Given the description of an element on the screen output the (x, y) to click on. 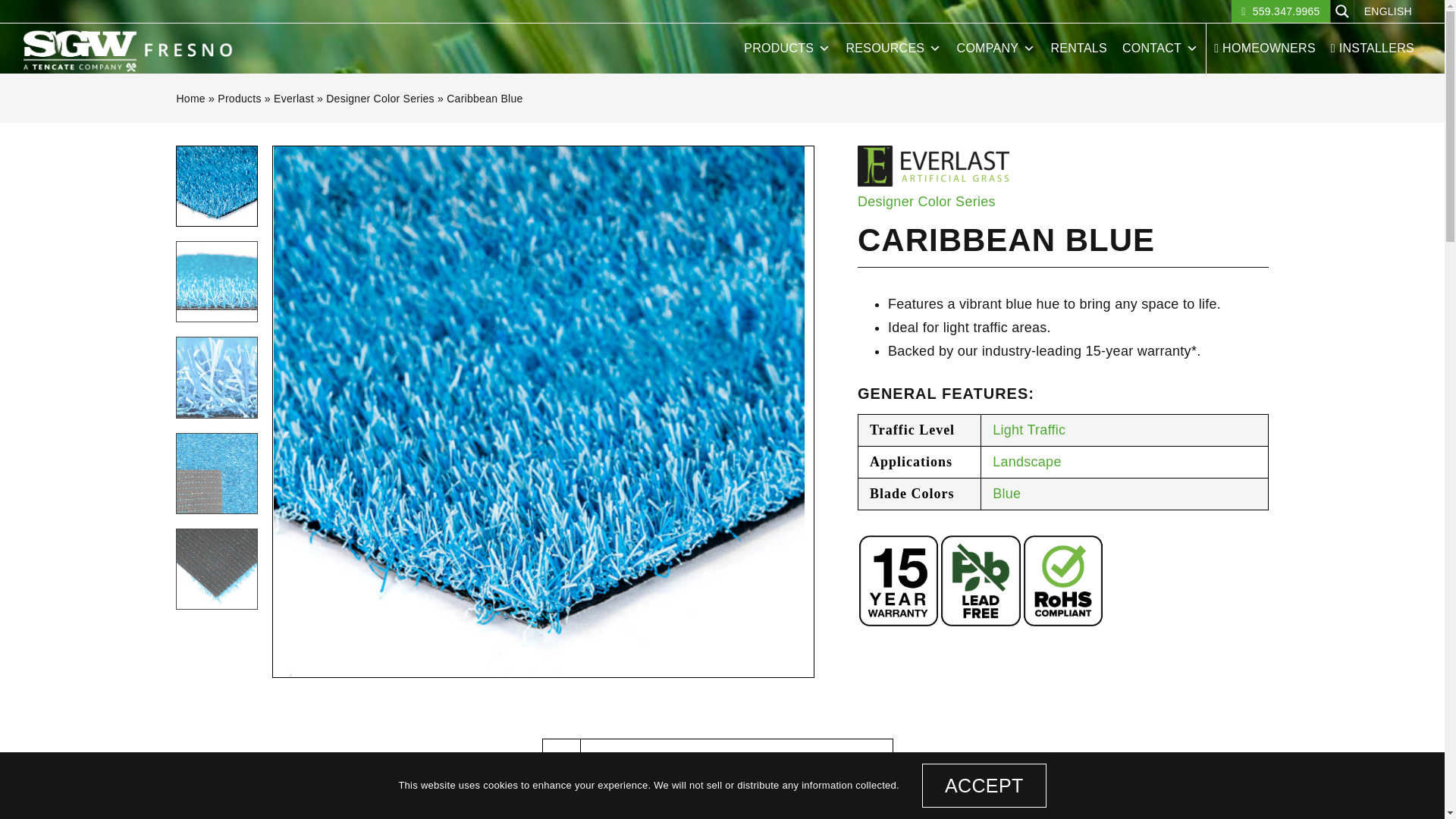
ENGLISH (1388, 11)
559.347.9965 (1280, 11)
PRODUCTS (787, 48)
English (1388, 11)
